Given the description of an element on the screen output the (x, y) to click on. 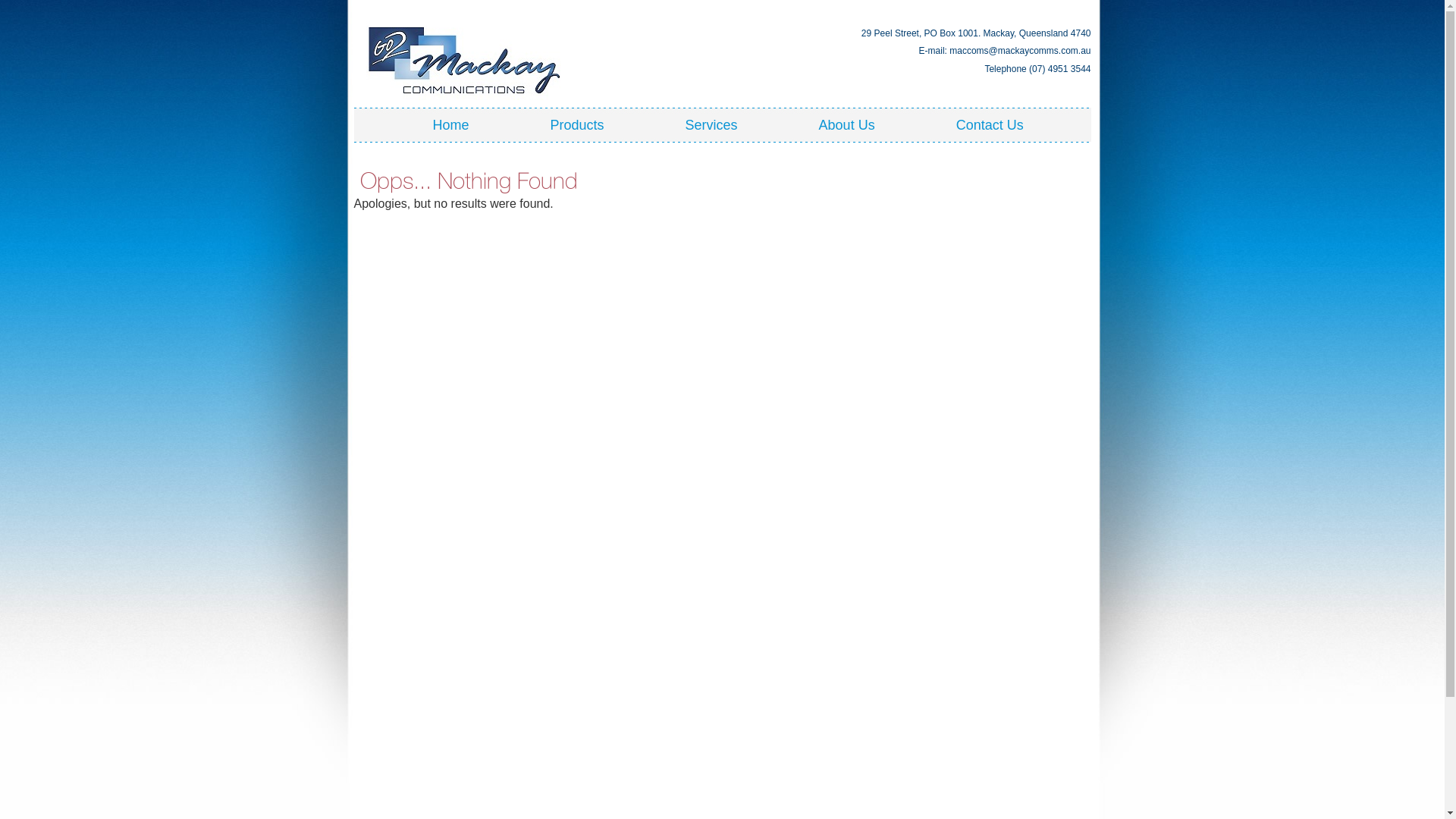
E-mail: maccoms@mackaycomms.com.au Element type: text (977, 50)
MCT Element type: text (463, 57)
Products Element type: text (576, 124)
About Us Element type: text (846, 124)
Home Element type: text (449, 124)
Contact Us Element type: text (989, 124)
Services Element type: text (711, 124)
